Given the description of an element on the screen output the (x, y) to click on. 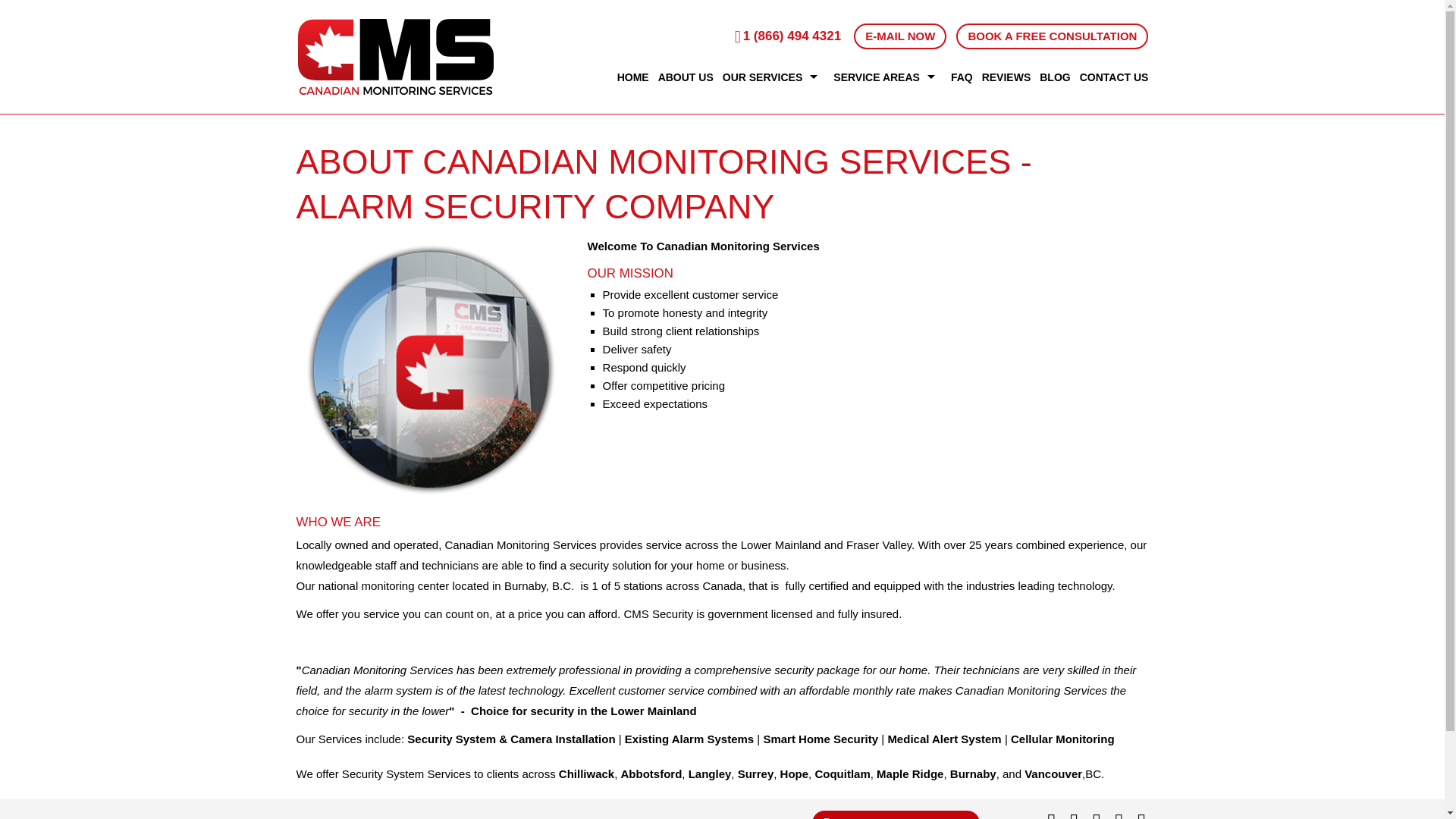
Cellular Monitoring (1062, 738)
Smart Home Security (819, 738)
E-MAIL NOW (899, 36)
Langley (710, 773)
Abbotsford (650, 773)
BOOK A FREE CONSULTATION (1052, 36)
BLOG (1054, 77)
Hope (794, 773)
Surrey (756, 773)
CONTACT US (1111, 77)
Chilliwack (586, 773)
Existing Alarm Systems (689, 738)
FAQ (961, 77)
OUR SERVICES (773, 77)
ABOUT US (685, 77)
